Given the description of an element on the screen output the (x, y) to click on. 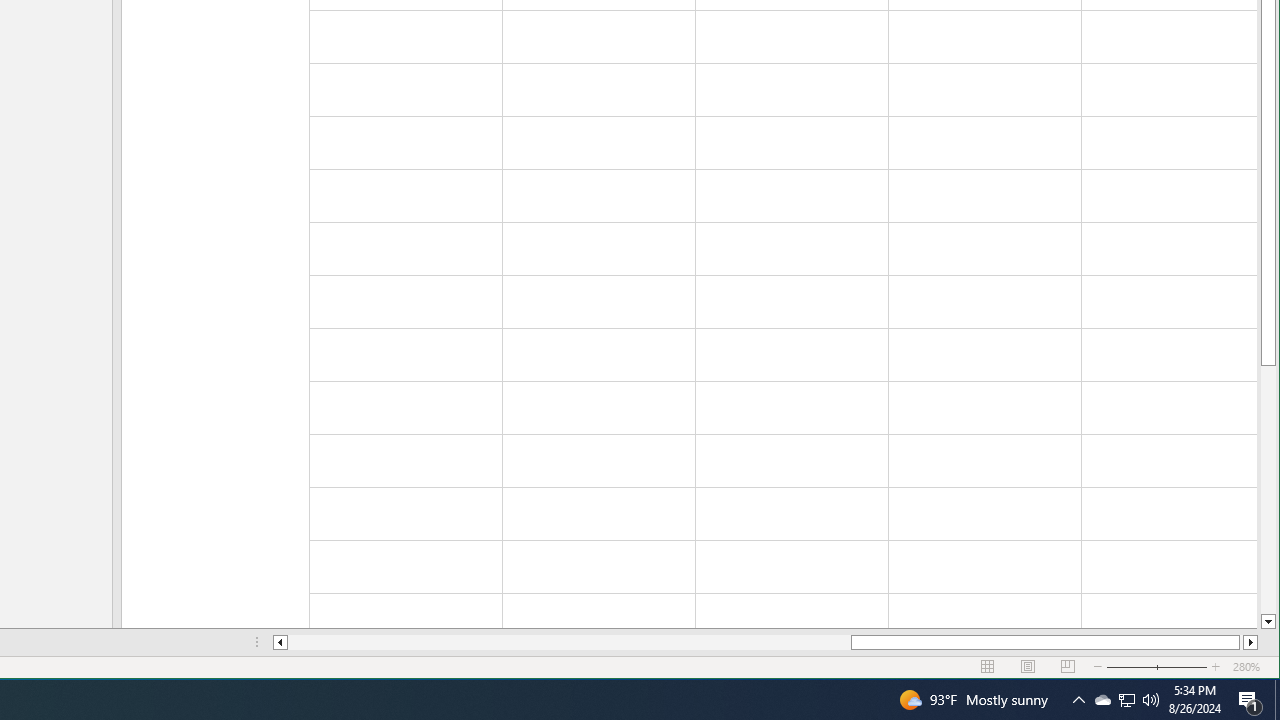
Show desktop (1277, 699)
Class: NetUIScrollBar (765, 642)
Zoom (1157, 667)
Column right (1250, 642)
Zoom Out (1144, 667)
Q2790: 100% (1151, 699)
Page Break Preview (1068, 667)
Line down (1268, 622)
Zoom In (1215, 667)
Page down (1102, 699)
Column left (1126, 699)
